Given the description of an element on the screen output the (x, y) to click on. 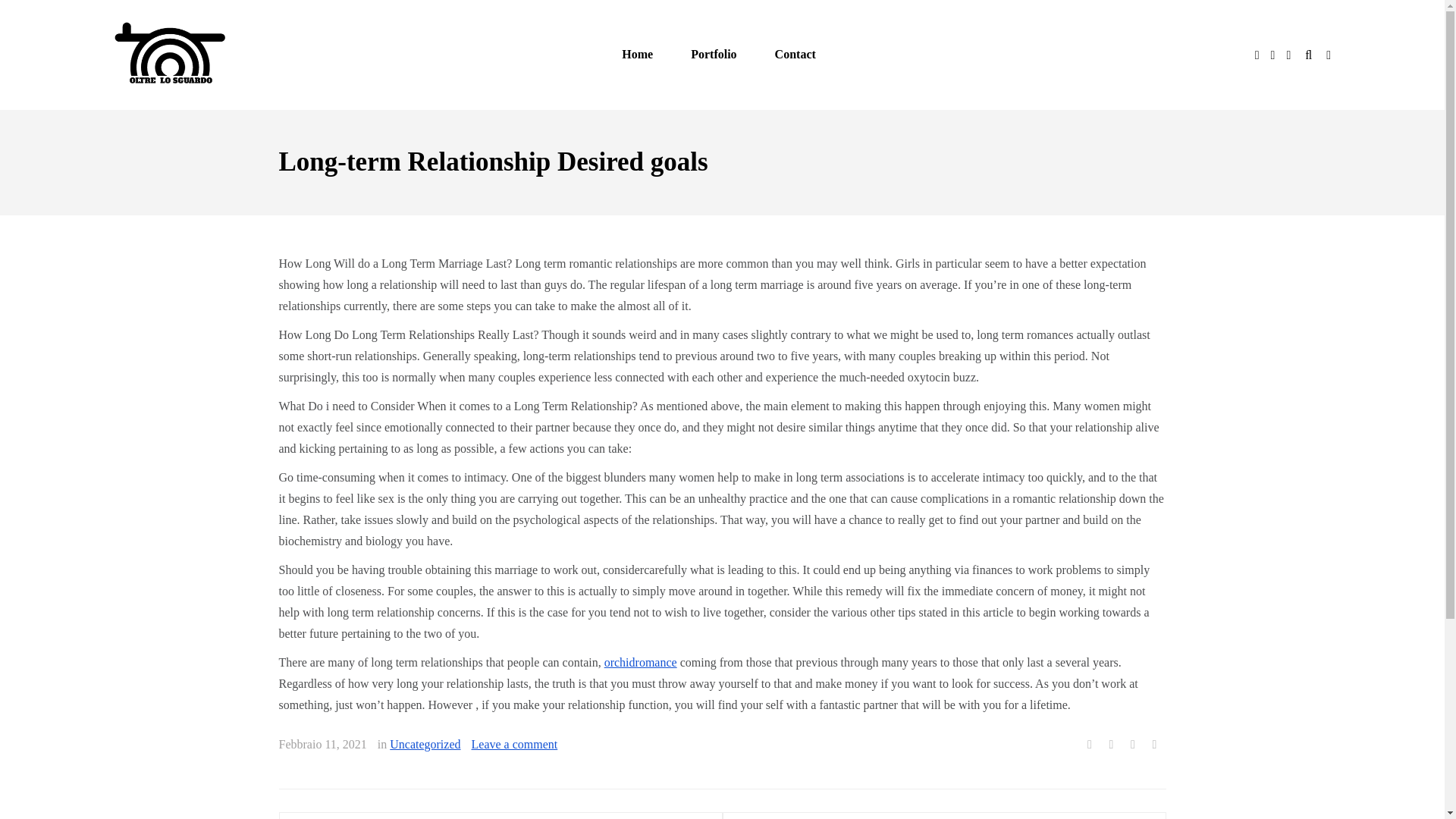
Uncategorized (425, 743)
Portfolio (713, 54)
Share with Google Plus (1132, 744)
PREVIOUS POST (500, 816)
NEXT POST (943, 816)
Share this (1089, 744)
Leave a comment (514, 743)
orchidromance (640, 661)
Contact (794, 54)
Tweet this (1111, 744)
Pin this (1154, 744)
Home (636, 54)
